Given the description of an element on the screen output the (x, y) to click on. 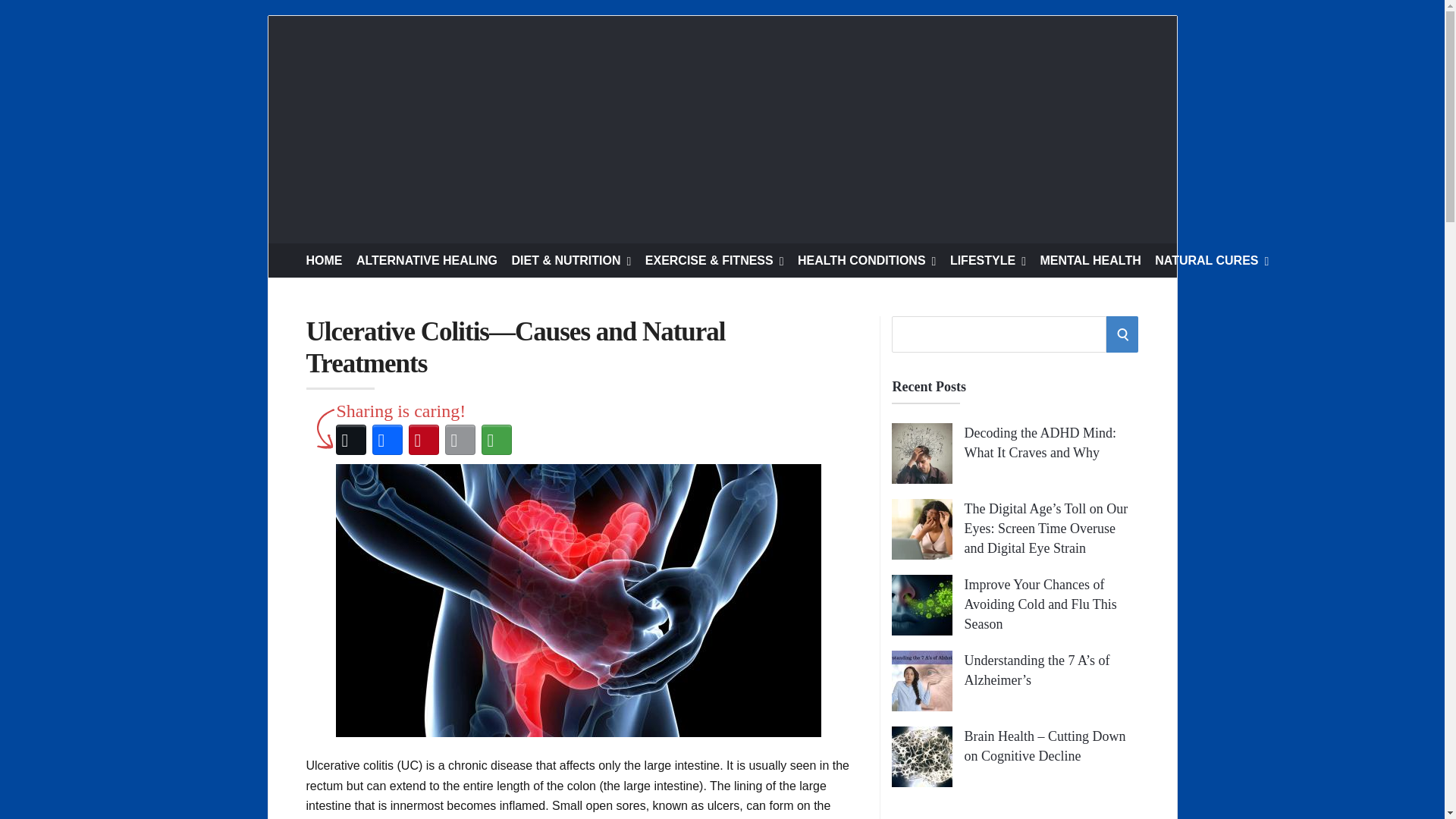
More Options (495, 439)
MENTAL HEALTH (1089, 260)
HOME (323, 260)
Facebook (386, 439)
LIFESTYLE (988, 260)
ALTERNATIVE HEALING (426, 260)
HEALTH CONDITIONS (866, 260)
Email This (459, 439)
NATURAL CURES (1211, 260)
Pinterest (422, 439)
